Given the description of an element on the screen output the (x, y) to click on. 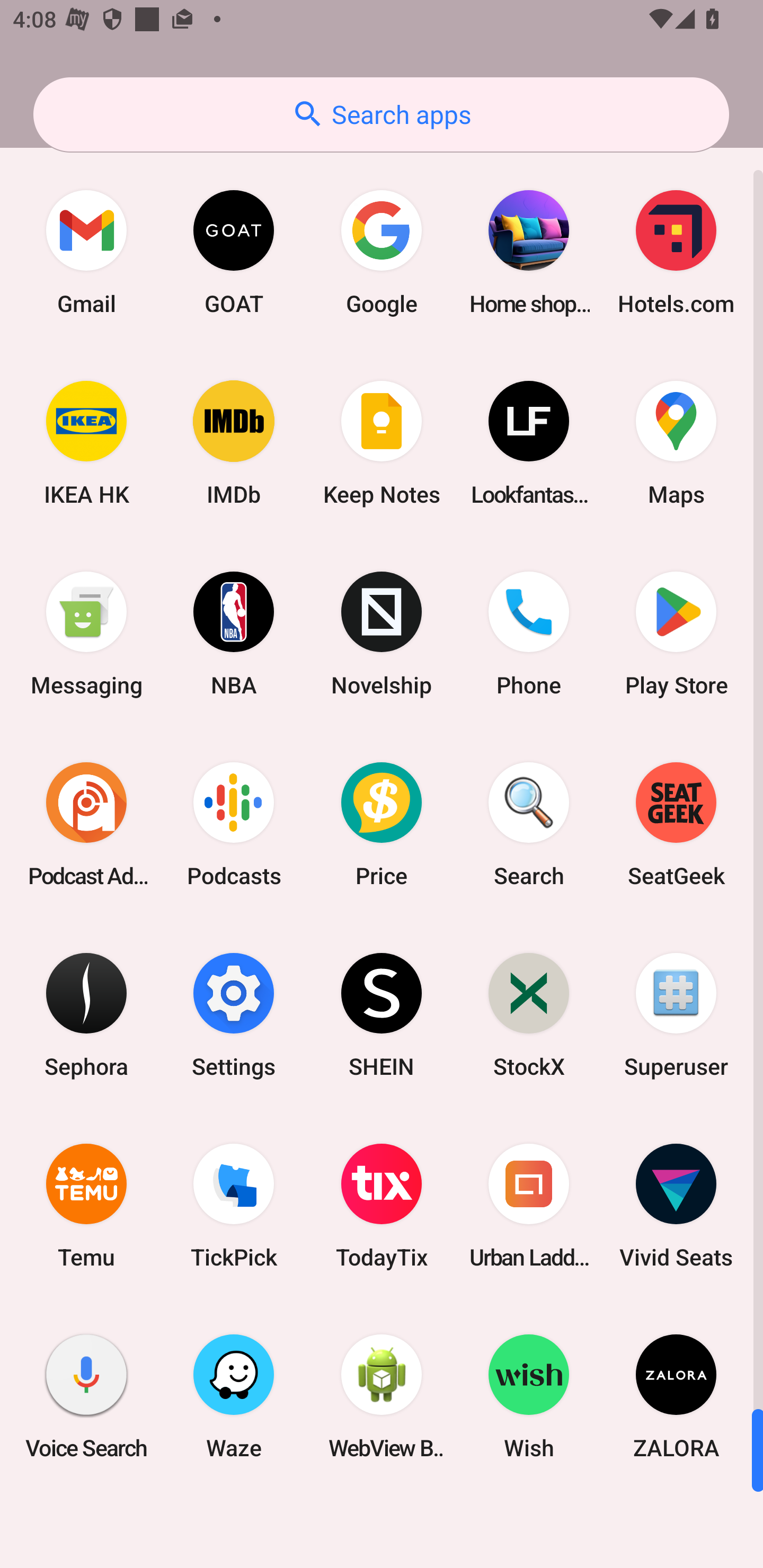
  Search apps (381, 114)
Gmail (86, 252)
GOAT (233, 252)
Google (381, 252)
Home shopping (528, 252)
Hotels.com (676, 252)
IKEA HK (86, 442)
IMDb (233, 442)
Keep Notes (381, 442)
Lookfantastic (528, 442)
Maps (676, 442)
Messaging (86, 633)
NBA (233, 633)
Novelship (381, 633)
Phone (528, 633)
Play Store (676, 633)
Podcast Addict (86, 823)
Podcasts (233, 823)
Price (381, 823)
Search (528, 823)
SeatGeek (676, 823)
Sephora (86, 1014)
Settings (233, 1014)
SHEIN (381, 1014)
StockX (528, 1014)
Superuser (676, 1014)
Temu (86, 1205)
TickPick (233, 1205)
TodayTix (381, 1205)
Urban Ladder (528, 1205)
Vivid Seats (676, 1205)
Voice Search (86, 1396)
Waze (233, 1396)
WebView Browser Tester (381, 1396)
Wish (528, 1396)
ZALORA (676, 1396)
